Given the description of an element on the screen output the (x, y) to click on. 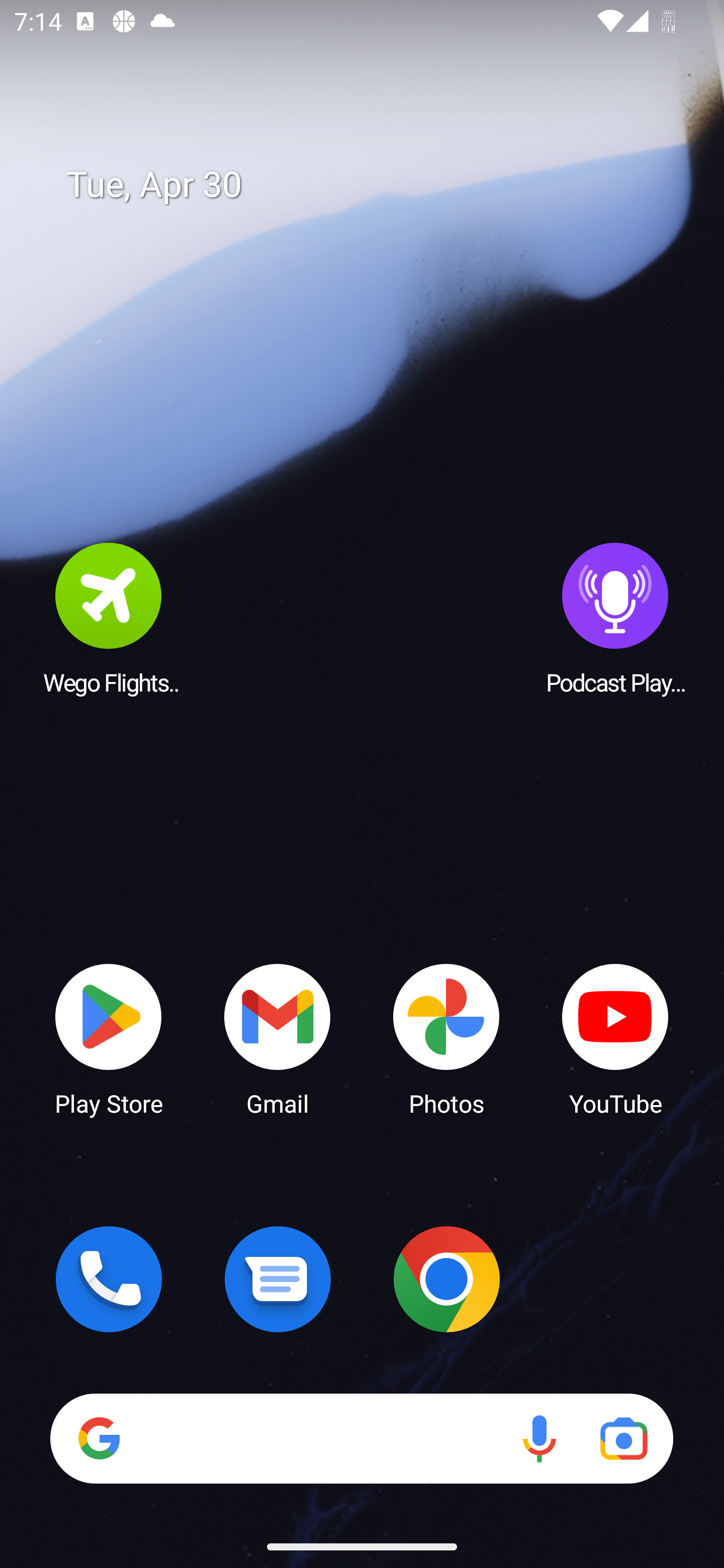
Tue, Apr 30 (375, 184)
Wego Flights & Hotels (108, 617)
Podcast Player (615, 617)
Play Store (108, 1038)
Gmail (277, 1038)
Photos (445, 1038)
YouTube (615, 1038)
Phone (108, 1279)
Messages (277, 1279)
Chrome (446, 1279)
Voice search (539, 1438)
Google Lens (623, 1438)
